Given the description of an element on the screen output the (x, y) to click on. 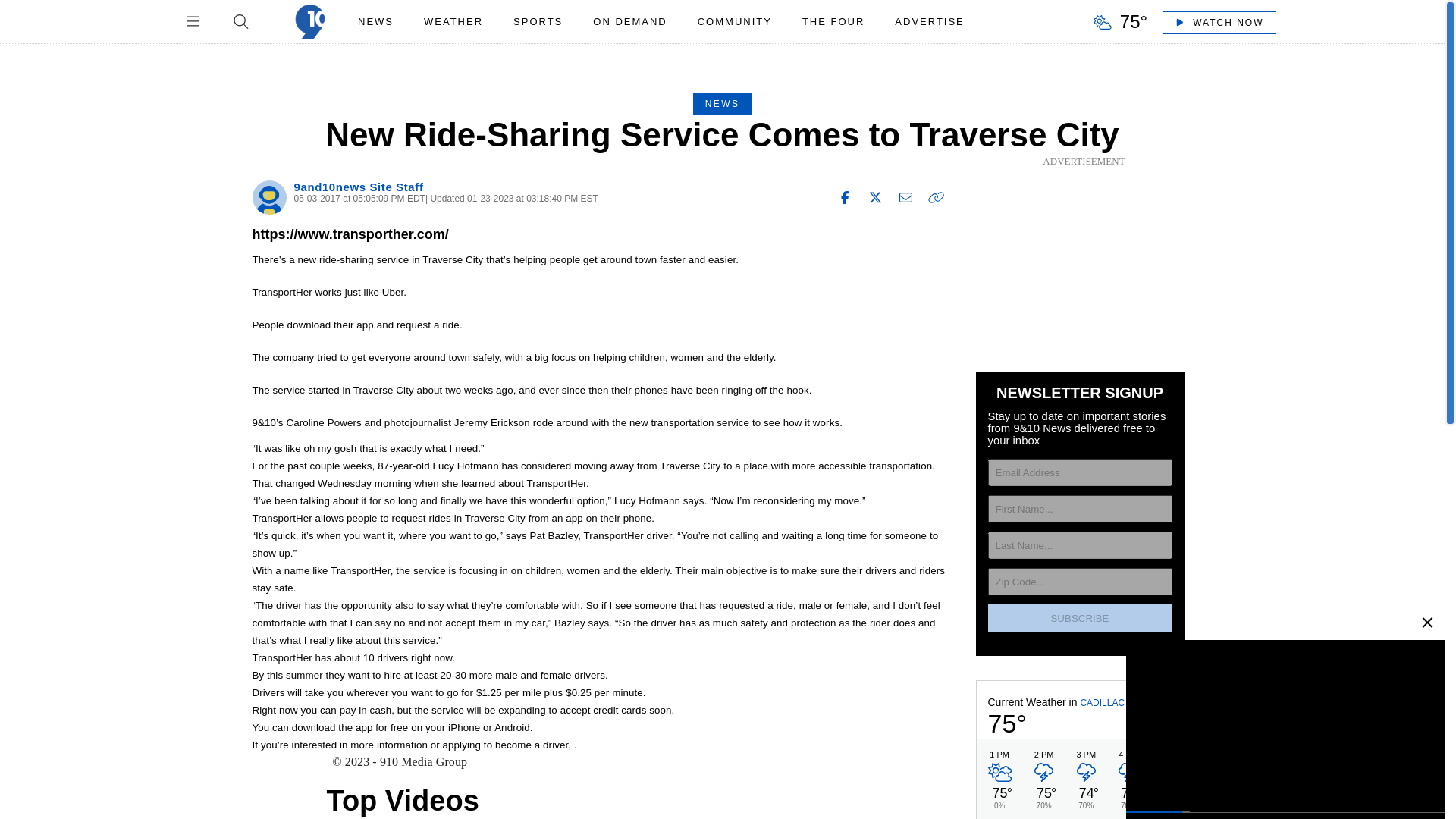
ON DEMAND (629, 21)
SPORTS (537, 21)
WEATHER (453, 21)
COMMUNITY (734, 21)
Partly Cloudy (1166, 722)
WATCH NOW (1218, 21)
Showers and Thunderstorms (1086, 775)
NEWS (375, 21)
Showers and Thunderstorms (1169, 775)
Showers and Thunderstorms (1127, 775)
Click to Change Location (1102, 703)
Mostly Cloudy (998, 775)
ADVERTISE (928, 21)
subscribe (1079, 617)
Showers and Thunderstorms (1042, 775)
